Given the description of an element on the screen output the (x, y) to click on. 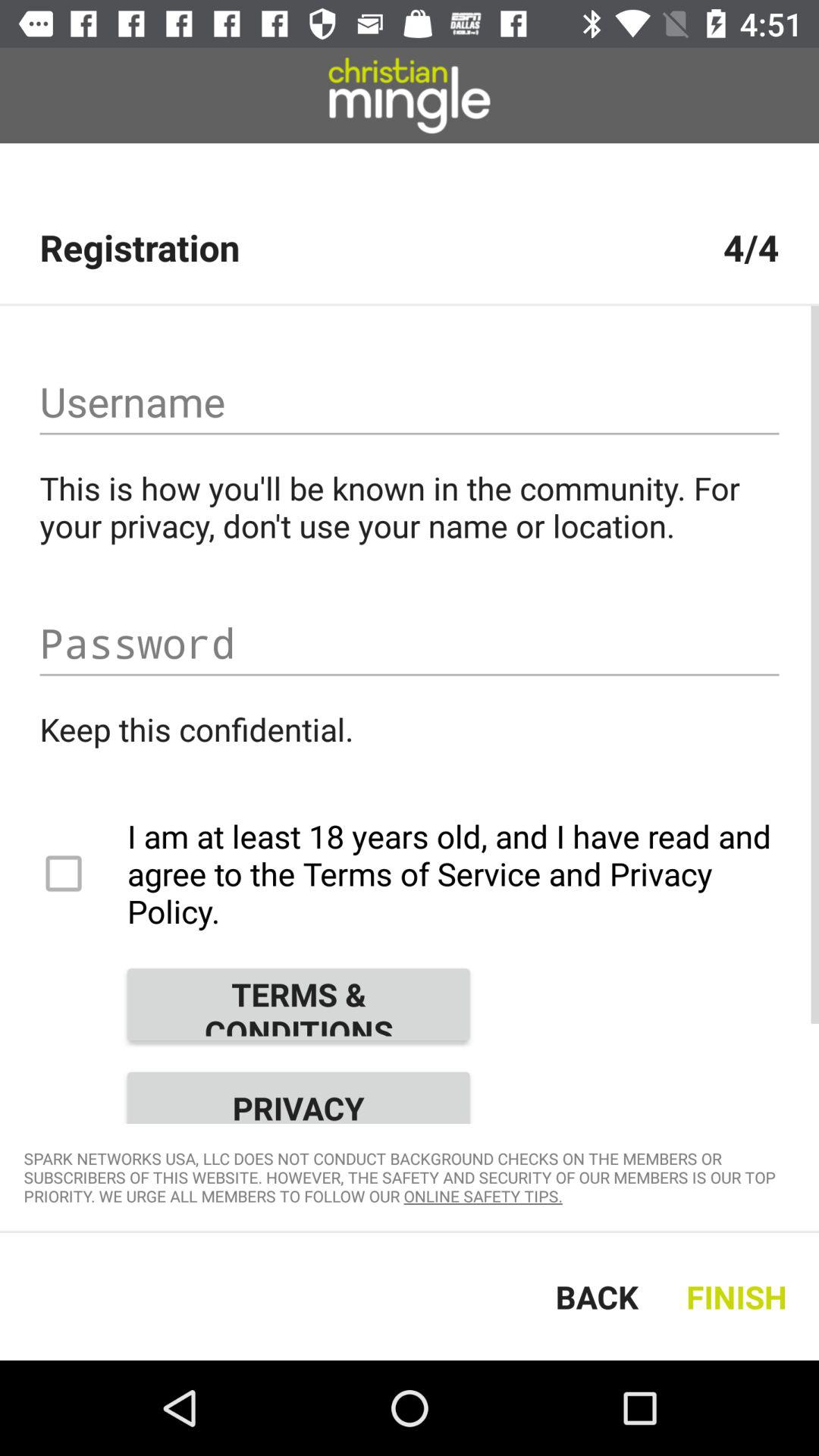
enter username field (409, 401)
